Given the description of an element on the screen output the (x, y) to click on. 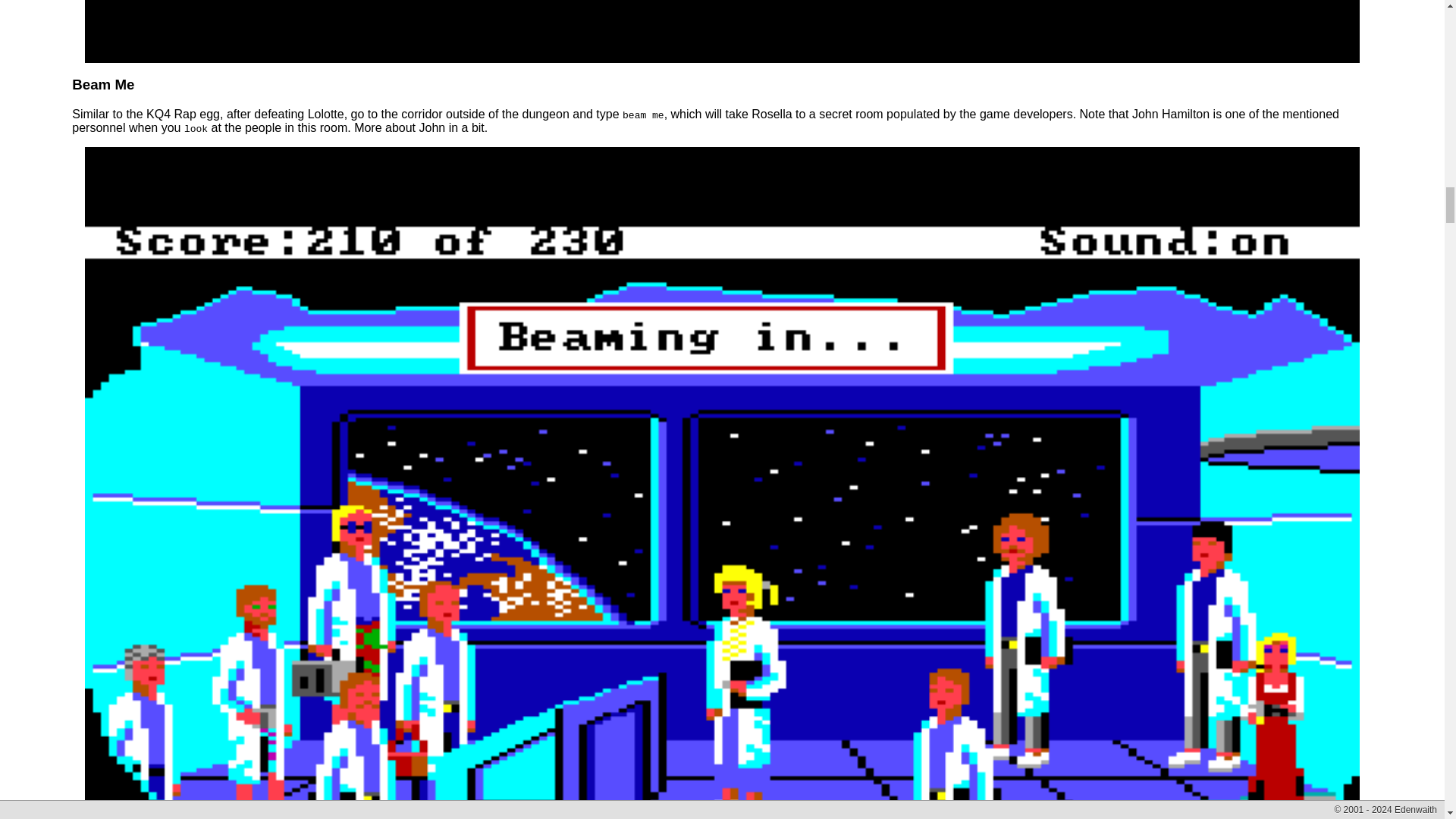
KQ4 Rap - AGI version of King's Quest 4 (721, 31)
